Given the description of an element on the screen output the (x, y) to click on. 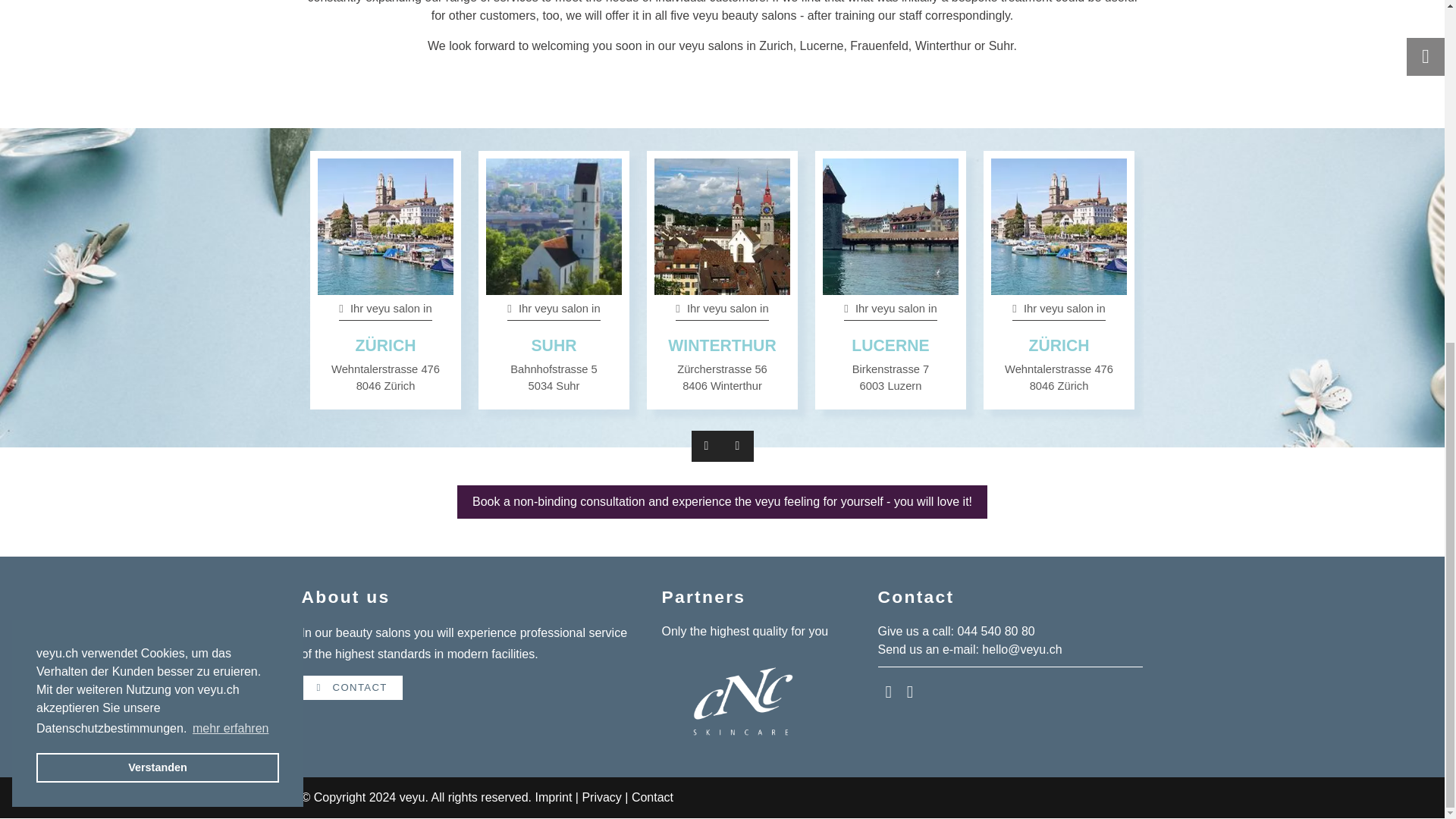
Contact (651, 797)
mehr erfahren (230, 144)
Privacy (600, 797)
Imprint (553, 797)
Kontajkt (352, 687)
Verstanden (157, 183)
